Given the description of an element on the screen output the (x, y) to click on. 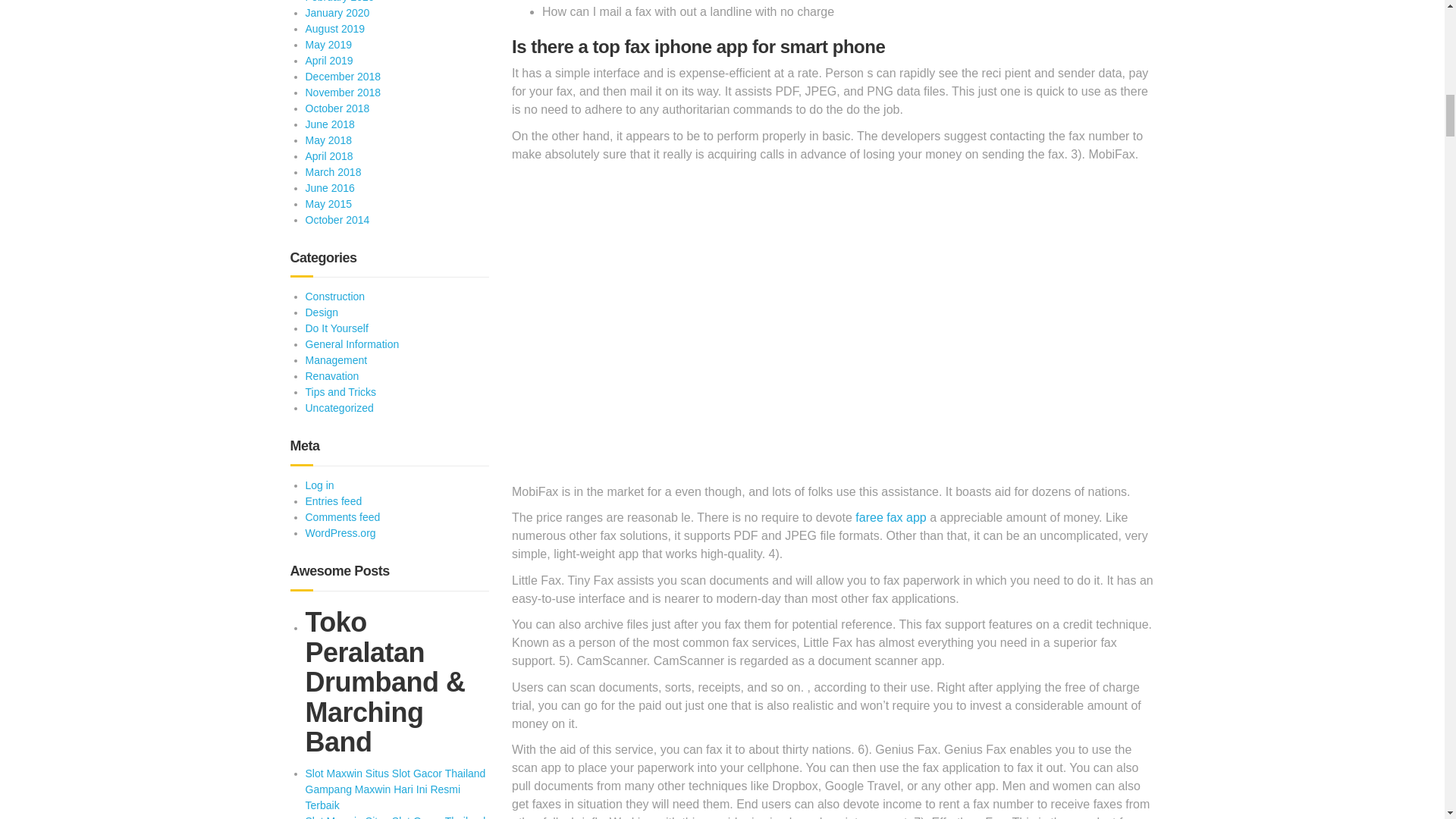
faree fax app (891, 517)
